Given the description of an element on the screen output the (x, y) to click on. 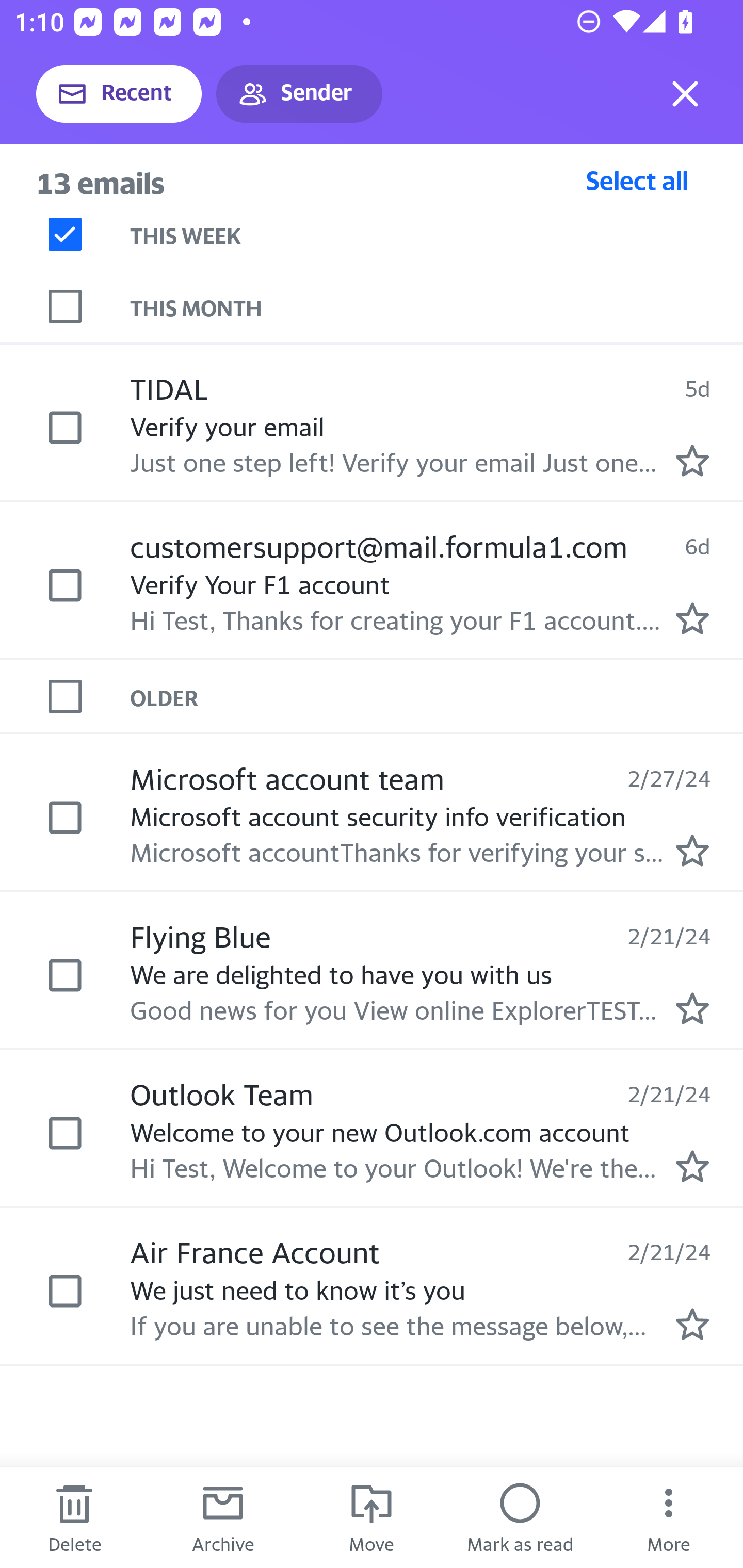
Sender (299, 93)
Exit selection mode (684, 93)
Select all (637, 180)
THIS MONTH (436, 306)
Mark as starred. (692, 460)
Mark as starred. (692, 618)
OLDER (436, 696)
Mark as starred. (692, 850)
Mark as starred. (692, 1008)
Mark as starred. (692, 1165)
Mark as starred. (692, 1324)
Delete (74, 1517)
Archive (222, 1517)
Move (371, 1517)
Mark as read (519, 1517)
More (668, 1517)
